Given the description of an element on the screen output the (x, y) to click on. 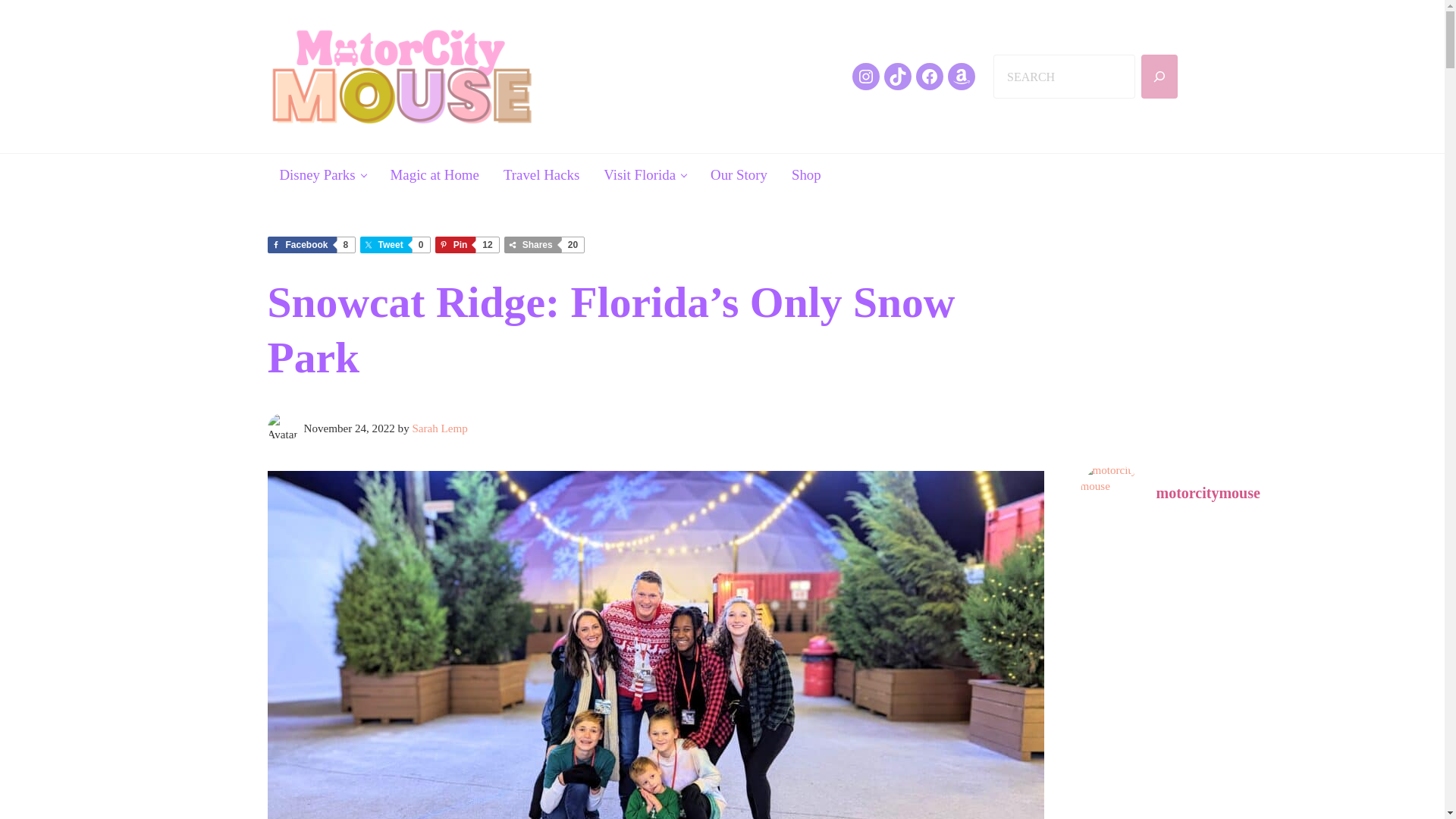
Instagram (466, 244)
Sarah Lemp (394, 244)
Shop (865, 76)
Magic at Home (439, 428)
Share on Pinterest (805, 174)
Amazon (435, 174)
TikTok (466, 244)
Disney Parks (961, 76)
Skip to main content (309, 244)
Facebook (897, 76)
Travel Hacks (321, 174)
